Given the description of an element on the screen output the (x, y) to click on. 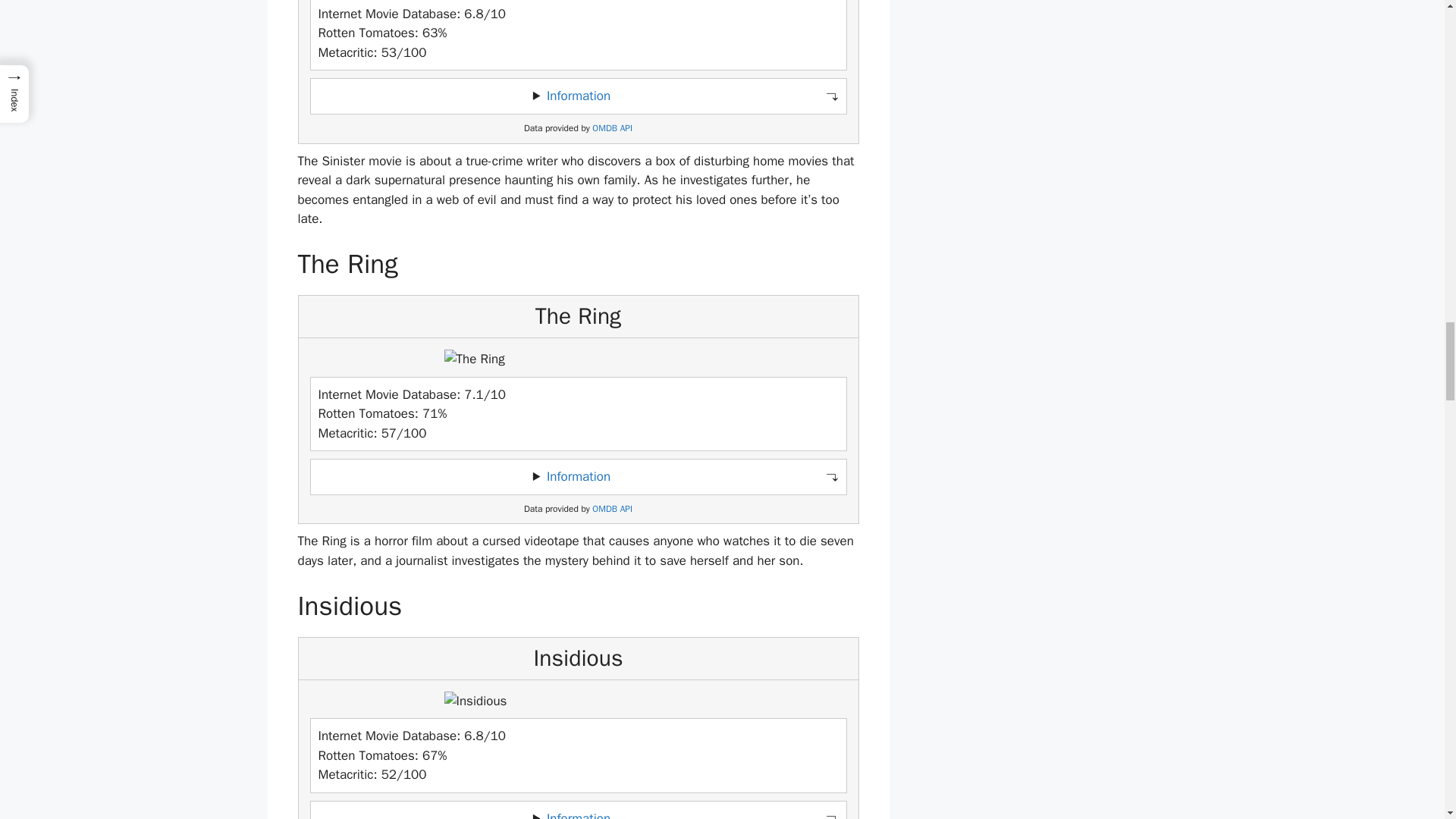
OMDB API (611, 128)
Information (578, 476)
Information (578, 814)
Information (578, 95)
OMDB API (611, 509)
